Given the description of an element on the screen output the (x, y) to click on. 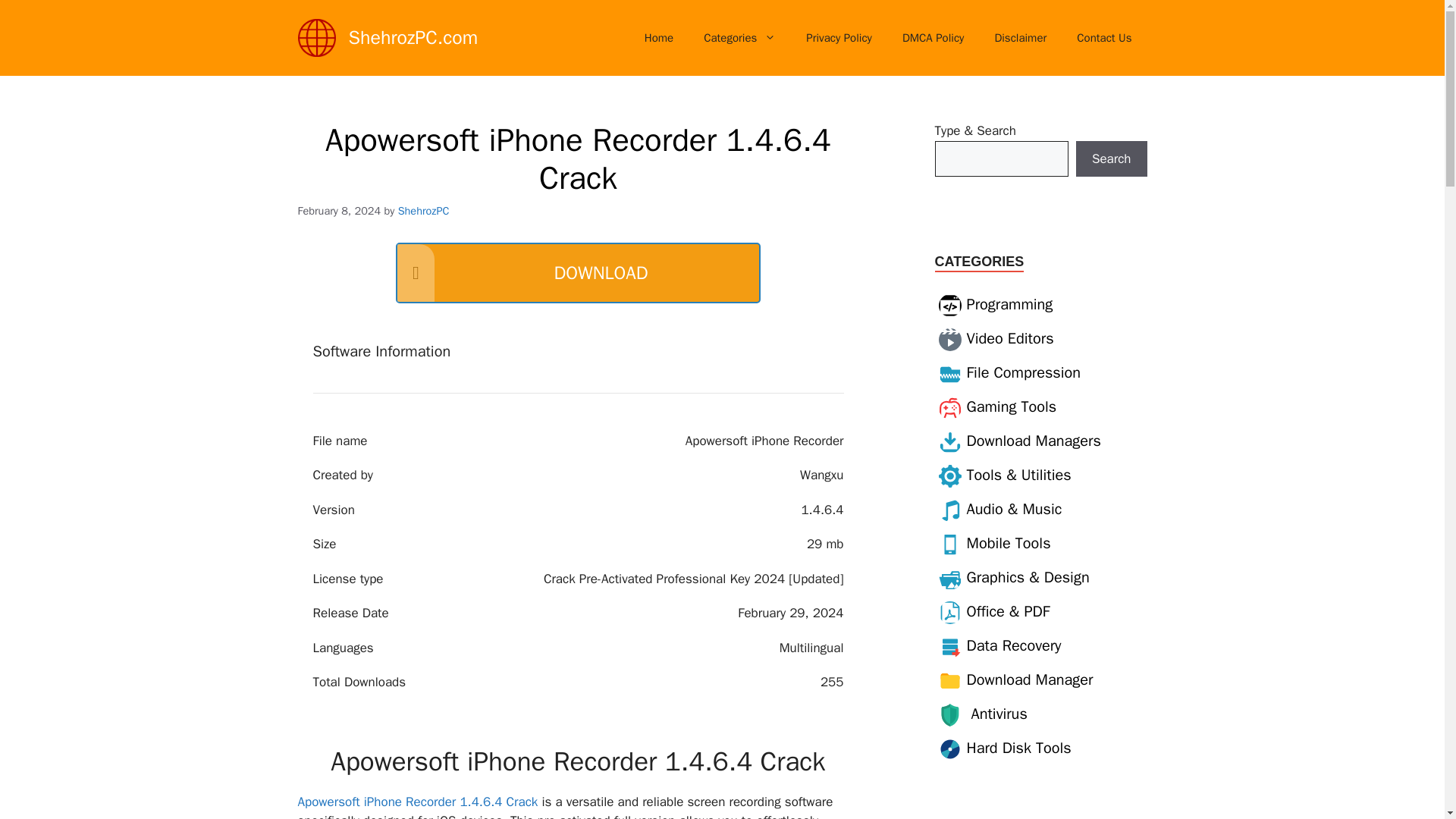
Home (658, 37)
ShehrozPC.com (414, 37)
Privacy Policy (838, 37)
Disclaimer (1019, 37)
Categories (739, 37)
ShehrozPC (423, 210)
Apowersoft iPhone Recorder 1.4.6.4 Crack (417, 801)
View all posts by ShehrozPC (423, 210)
Contact Us (1104, 37)
DMCA Policy (932, 37)
DOWNLOAD (578, 272)
